Given the description of an element on the screen output the (x, y) to click on. 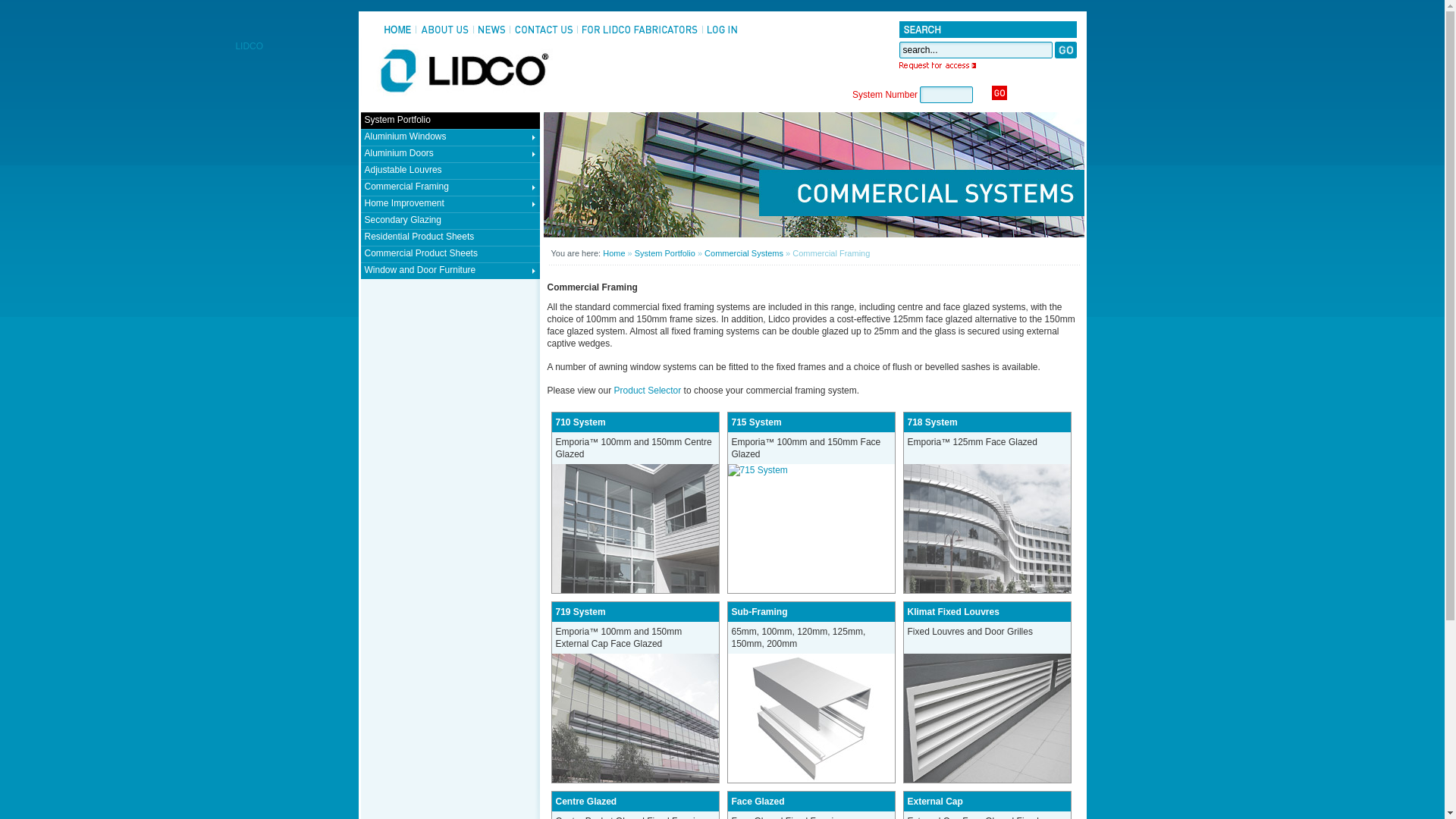
System Portfolio Element type: text (664, 252)
Product Selector Element type: text (647, 390)
News Element type: hover (491, 29)
Adjustable Louvres Element type: text (449, 170)
About Us Element type: hover (444, 29)
Contact Us Element type: hover (543, 29)
Home Element type: text (613, 252)
Login Element type: hover (721, 29)
Commercial Systems Element type: text (743, 252)
Window and Door Furniture Element type: text (449, 270)
Aluminium Windows Element type: text (449, 136)
Home Element type: hover (397, 29)
LIDCO Element type: text (455, 74)
Residential Product Sheets Element type: text (449, 237)
Home Improvement Element type: text (449, 203)
Fabricators Element type: hover (638, 29)
Commercial Systems Element type: hover (812, 234)
Search Element type: text (1065, 49)
Secondary Glazing Element type: text (449, 220)
Aluminium Doors Element type: text (449, 153)
Sub-Framing Element type: hover (811, 717)
System Portfolio Element type: text (449, 120)
Commercial Product Sheets Element type: text (449, 253)
Commercial Framing Element type: text (449, 186)
